Given the description of an element on the screen output the (x, y) to click on. 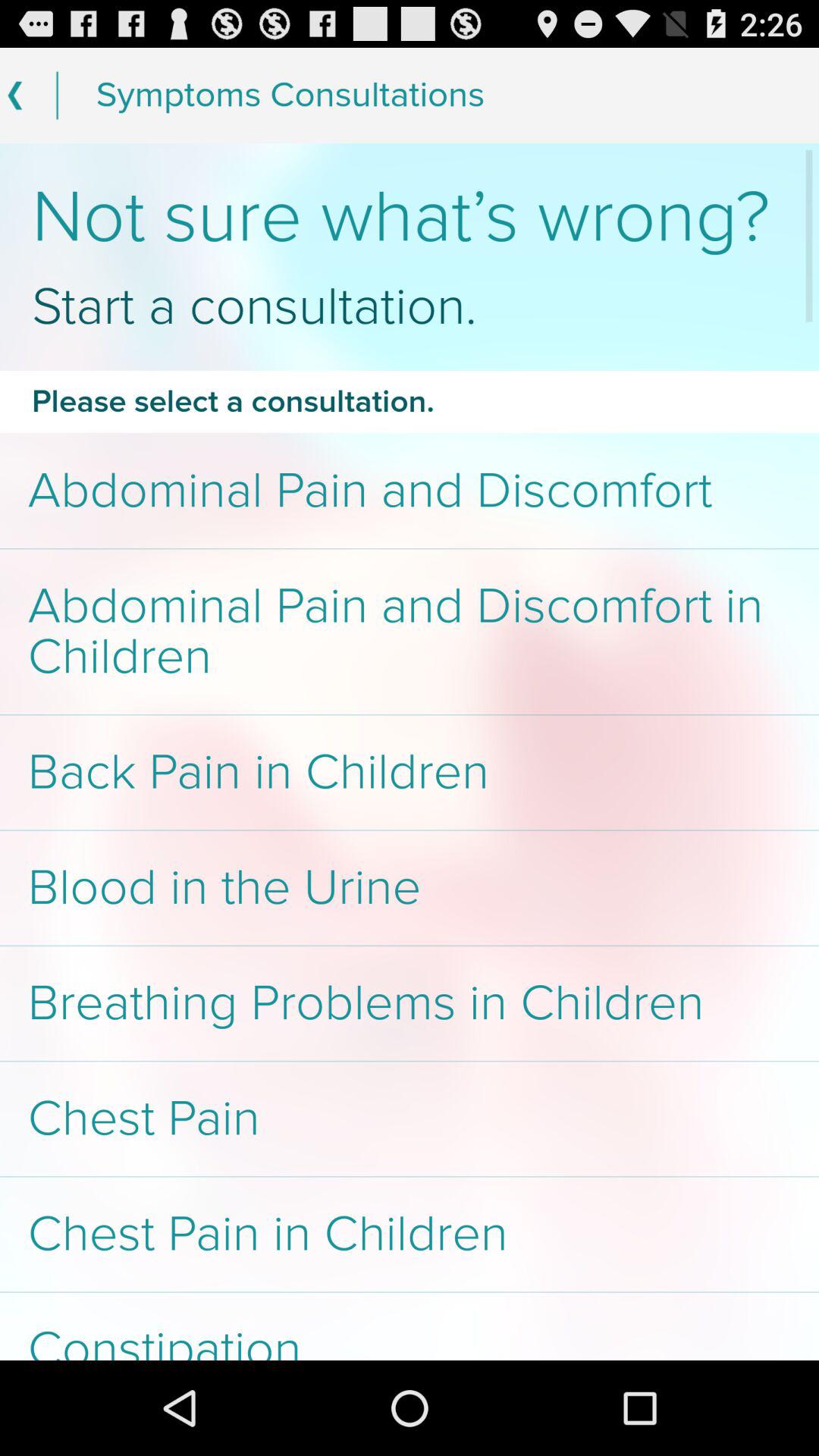
swipe to not sure what item (409, 217)
